Given the description of an element on the screen output the (x, y) to click on. 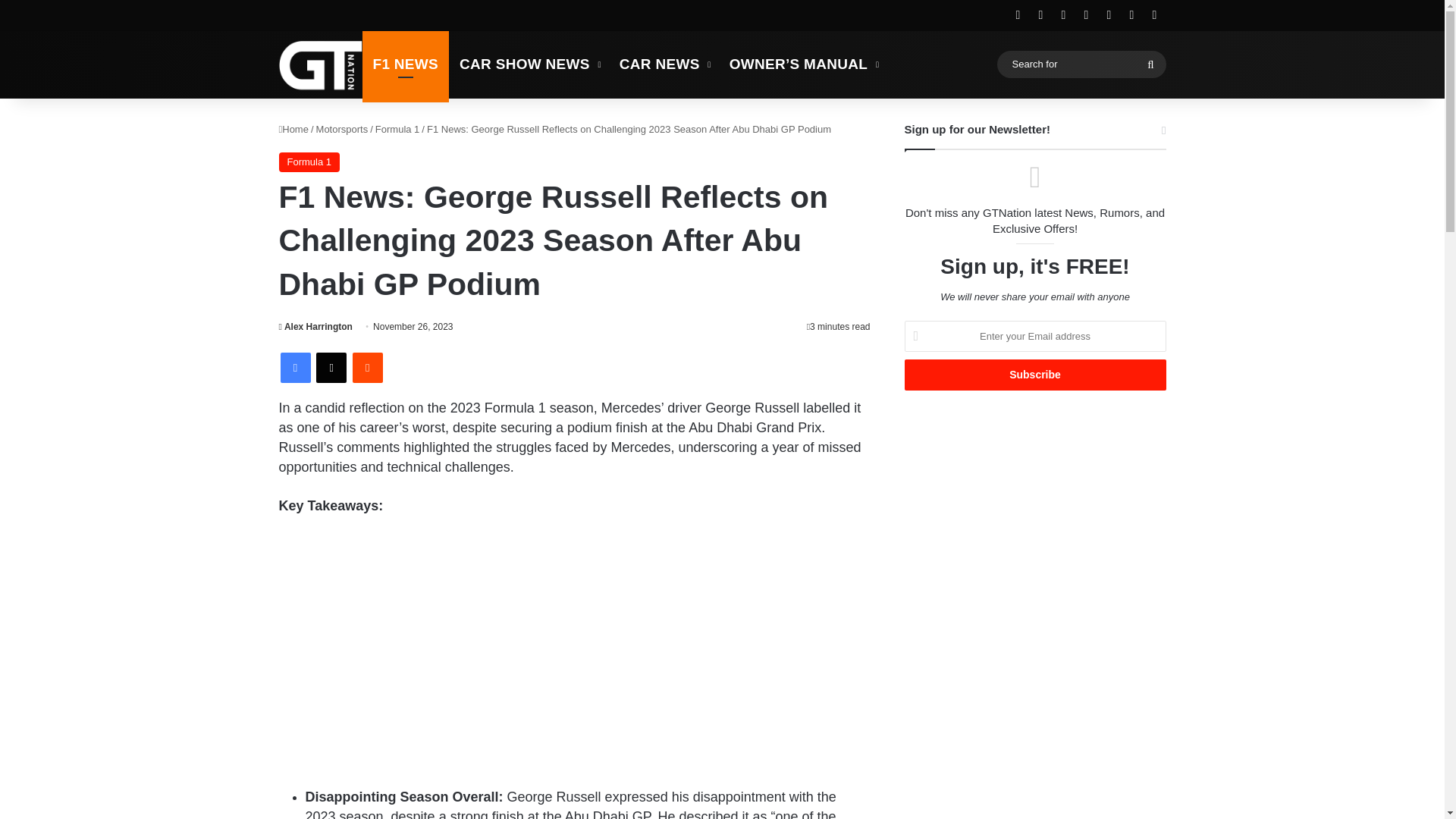
X (330, 367)
Search for (1080, 63)
X (330, 367)
CAR NEWS (663, 64)
Reddit (367, 367)
Search for (1150, 63)
CAR SHOW NEWS (528, 64)
Facebook (296, 367)
Subscribe (1035, 374)
Reddit (367, 367)
F1 NEWS (405, 64)
Alex Harrington (315, 326)
Formula 1 (309, 161)
Motorsports (341, 129)
Facebook (296, 367)
